Given the description of an element on the screen output the (x, y) to click on. 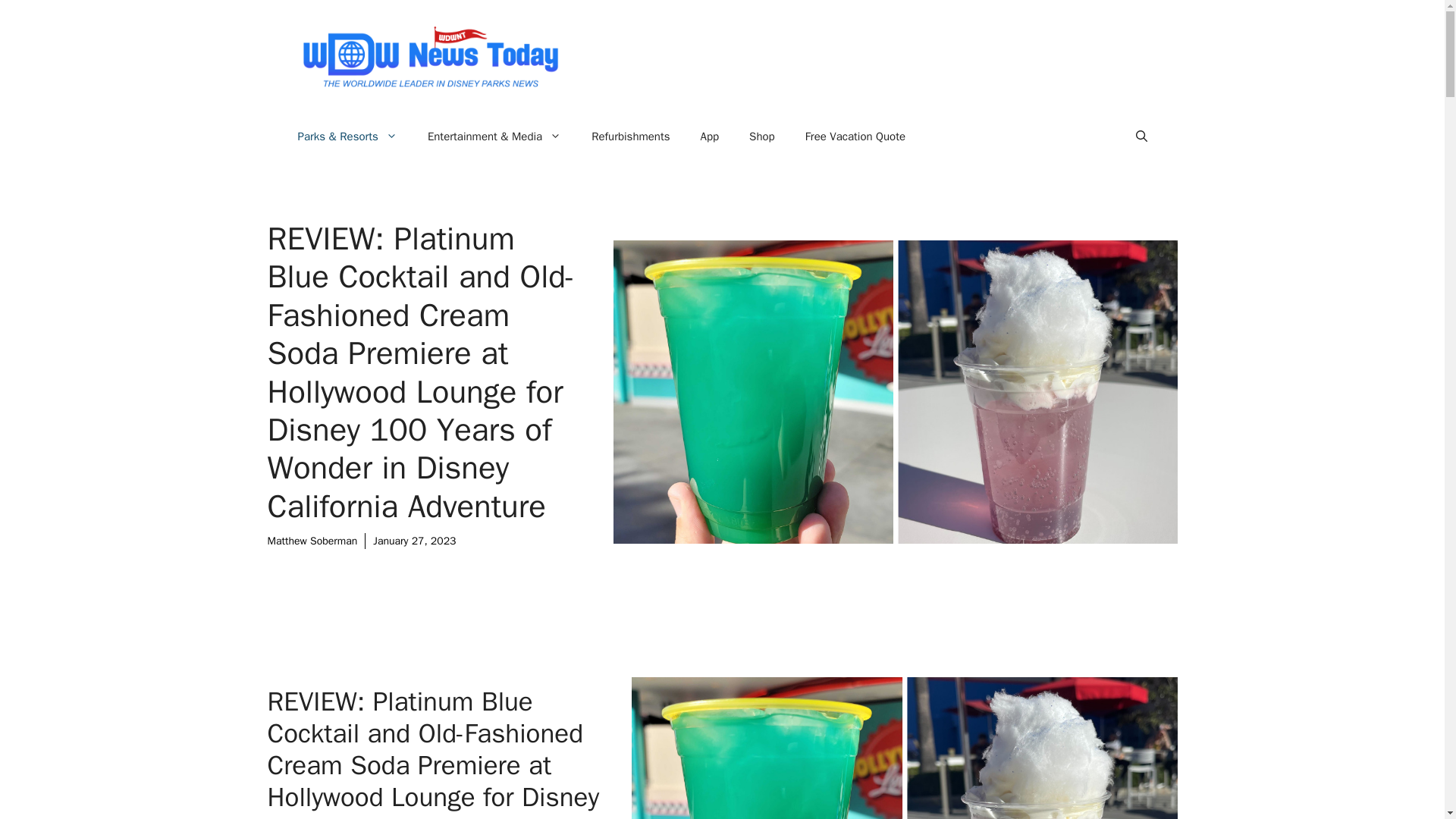
App (710, 135)
Free Vacation Quote (855, 135)
Refurbishments (630, 135)
Shop (761, 135)
